Given the description of an element on the screen output the (x, y) to click on. 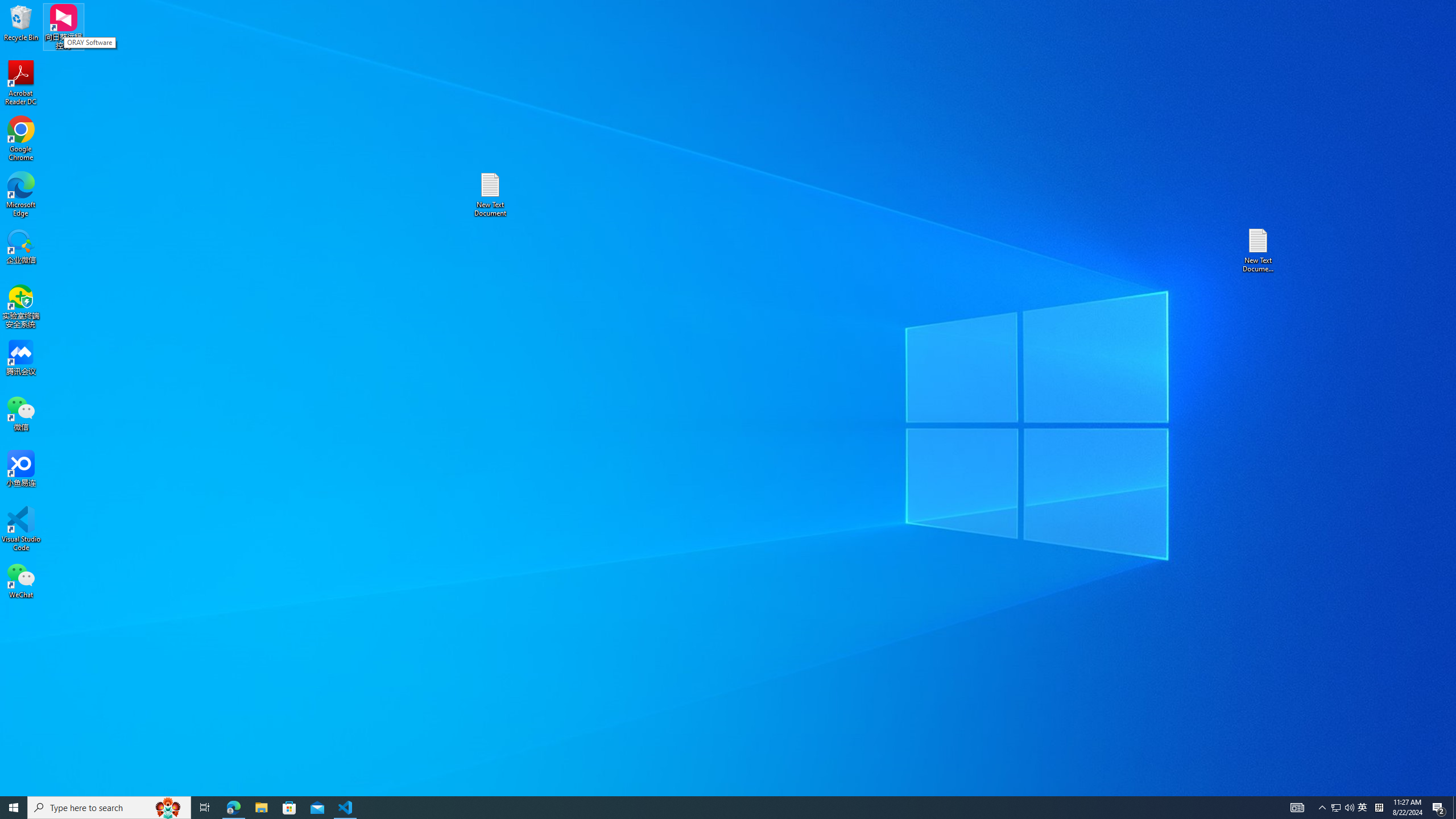
WeChat (21, 580)
New Text Document (2) (1258, 250)
File Explorer (261, 807)
Show desktop (1454, 807)
